Given the description of an element on the screen output the (x, y) to click on. 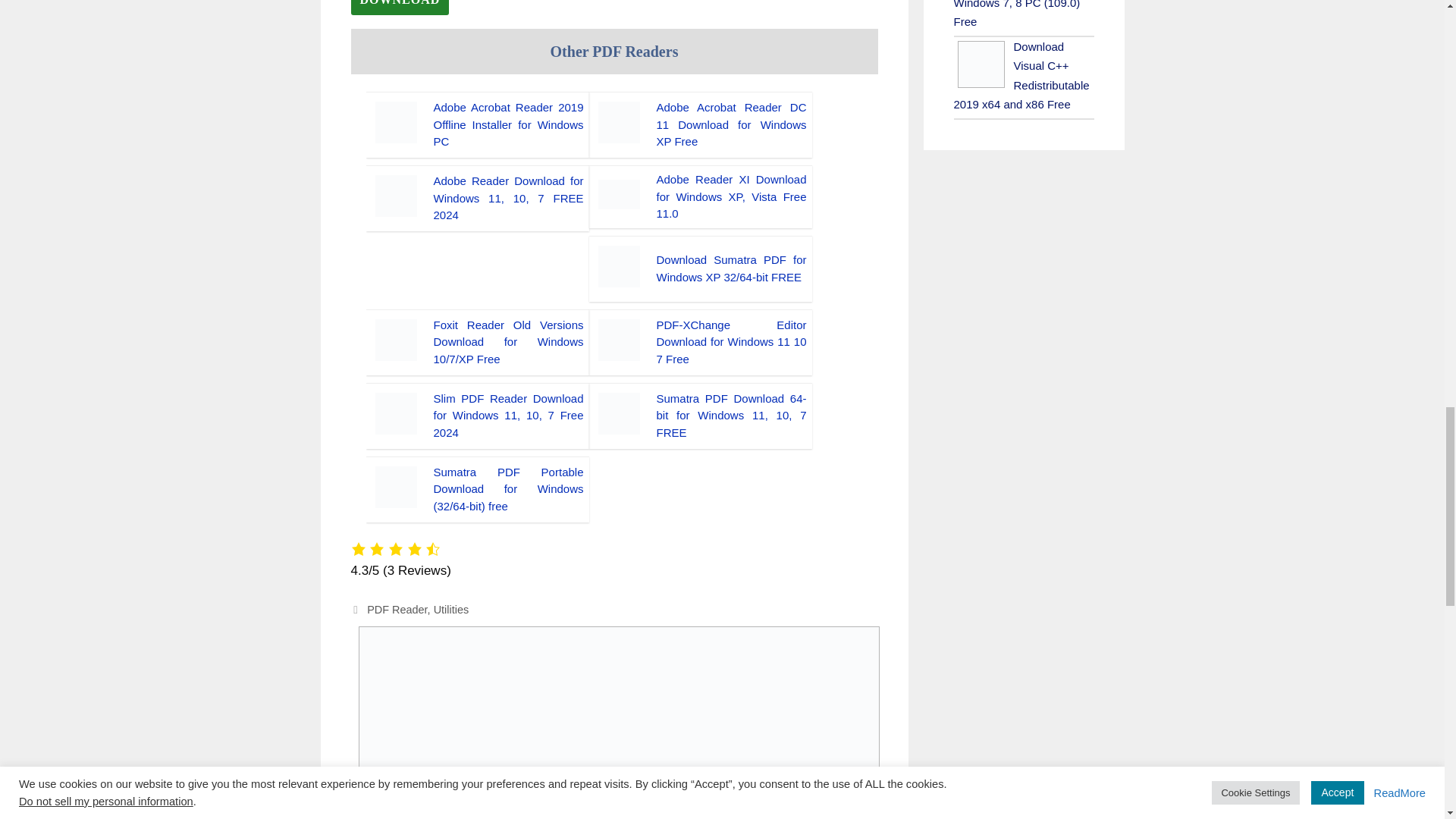
DOWNLOAD (399, 7)
Adobe Acrobat Reader DC 11 Download for Windows XP Free (731, 124)
Adobe Acrobat Reader 2019 Offline Installer for Windows PC (508, 124)
Adobe Reader XI Download for Windows XP, Vista Free 11.0 (731, 196)
Adobe Reader Download for Windows 11, 10, 7 FREE 2024 (508, 197)
